Given the description of an element on the screen output the (x, y) to click on. 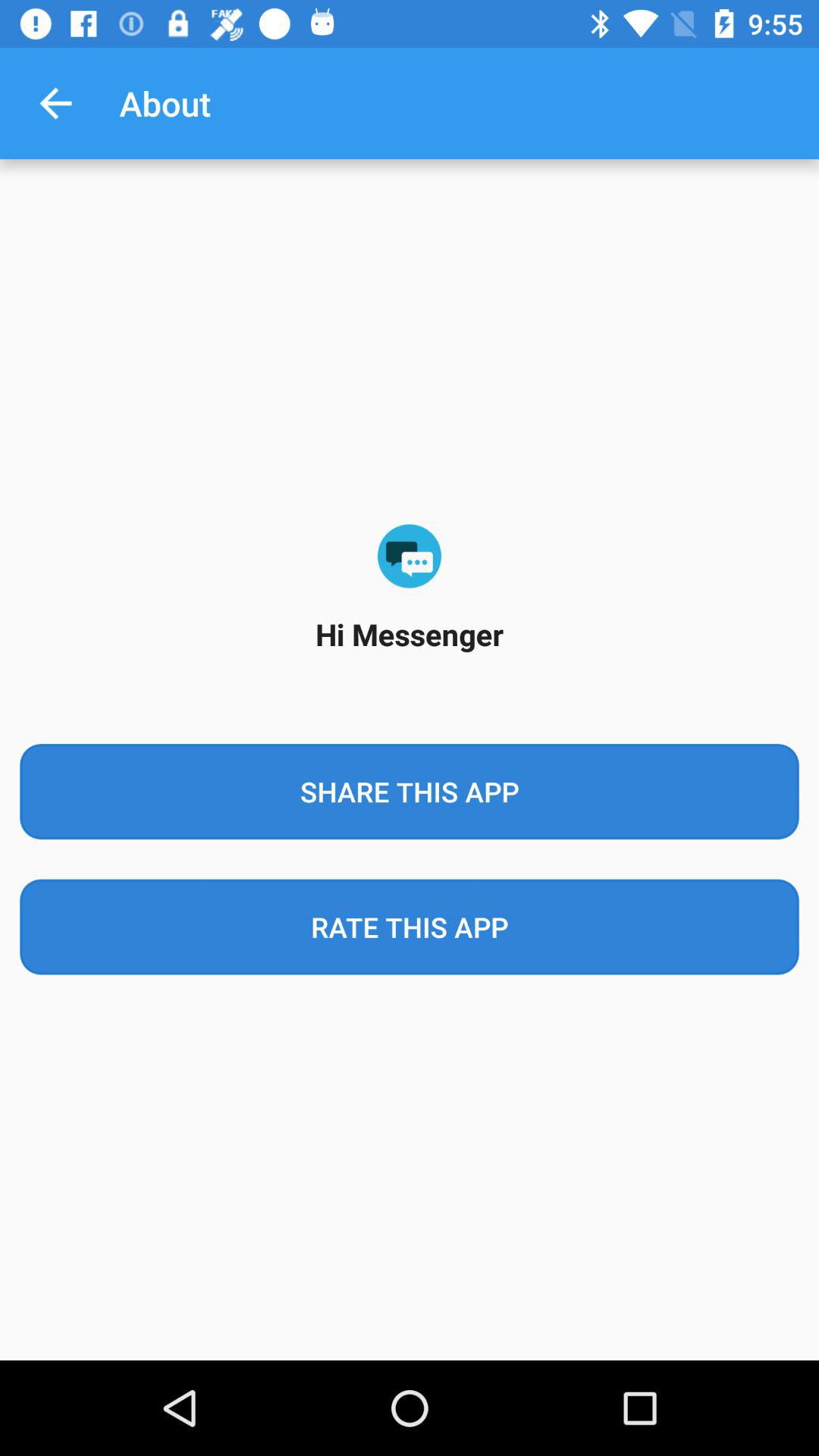
click app to the left of about (55, 103)
